Given the description of an element on the screen output the (x, y) to click on. 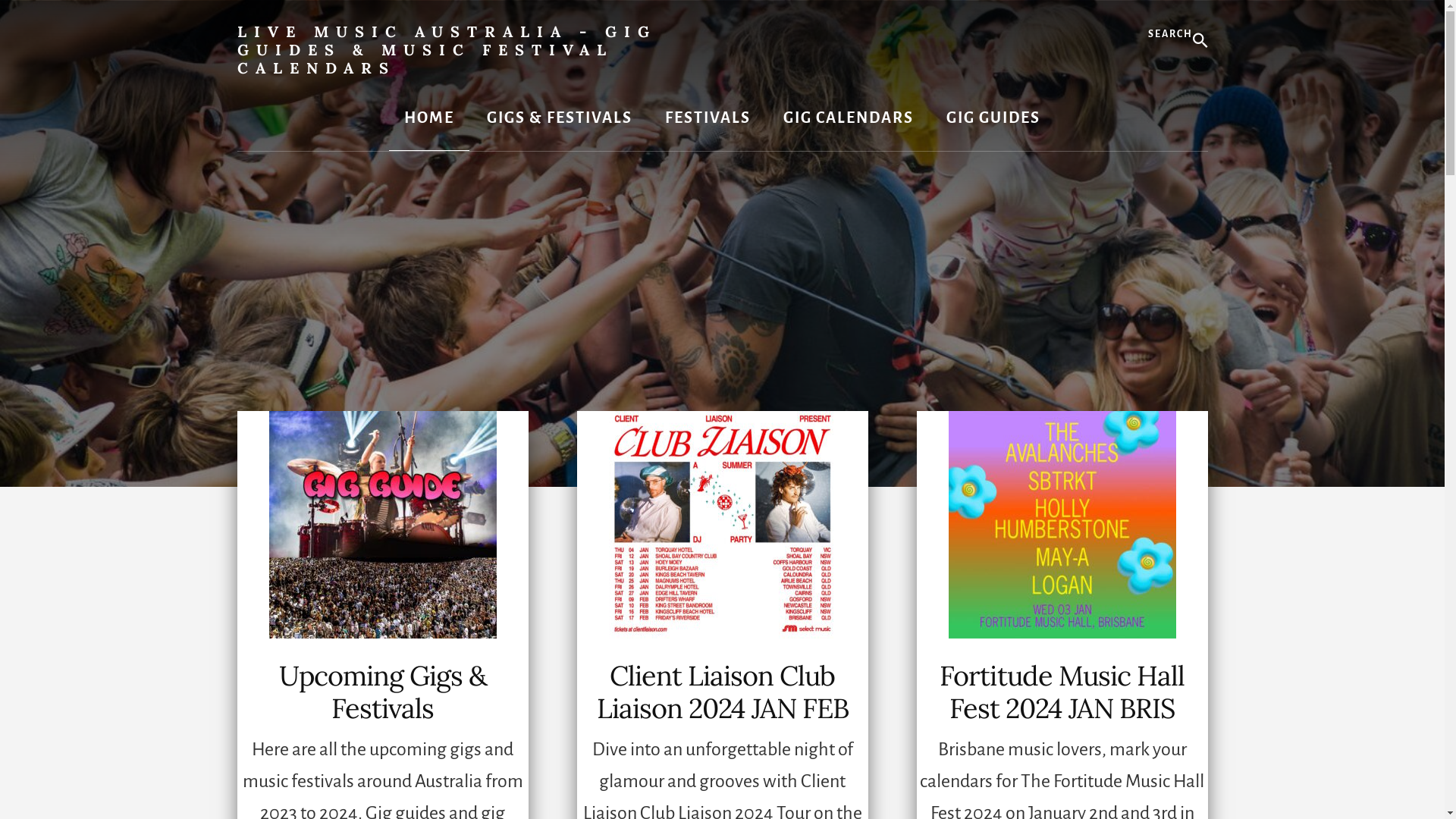
GIG CALENDARS Element type: text (848, 117)
Search Element type: text (1207, 14)
Skip to content Element type: text (0, 0)
Fortitude Music Hall Fest 2024 JAN BRIS Element type: text (1061, 691)
GIGS & FESTIVALS Element type: text (559, 117)
Client Liaison Club Liaison 2024 JAN FEB Element type: text (721, 691)
GIG GUIDES Element type: text (993, 117)
Upcoming Gigs & Festivals Element type: text (382, 691)
FESTIVALS Element type: text (707, 117)
LIVE MUSIC AUSTRALIA - GIG GUIDES & MUSIC FESTIVAL CALENDARS Element type: text (445, 49)
HOME Element type: text (429, 117)
